Given the description of an element on the screen output the (x, y) to click on. 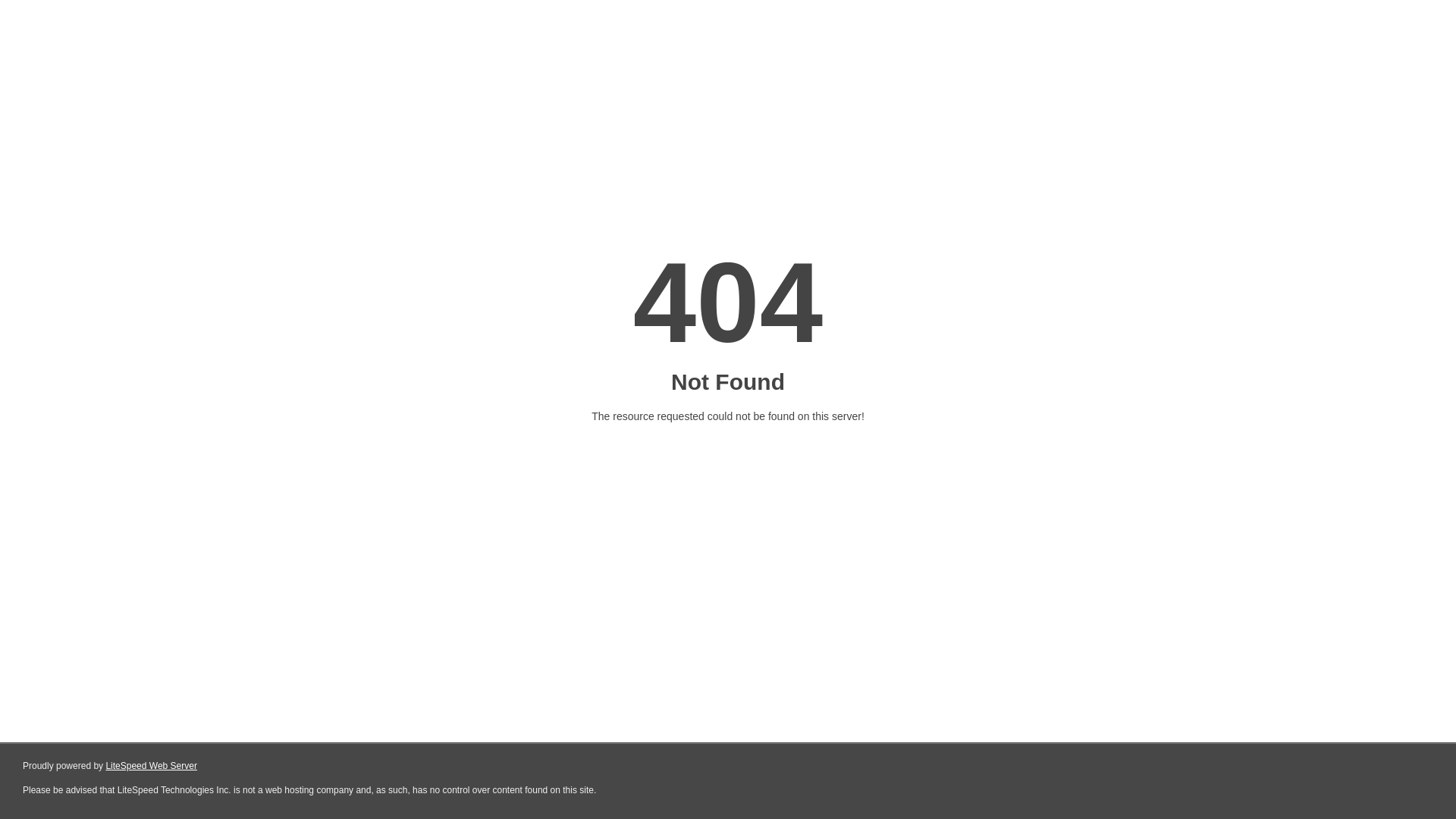
LiteSpeed Web Server Element type: text (151, 765)
